Given the description of an element on the screen output the (x, y) to click on. 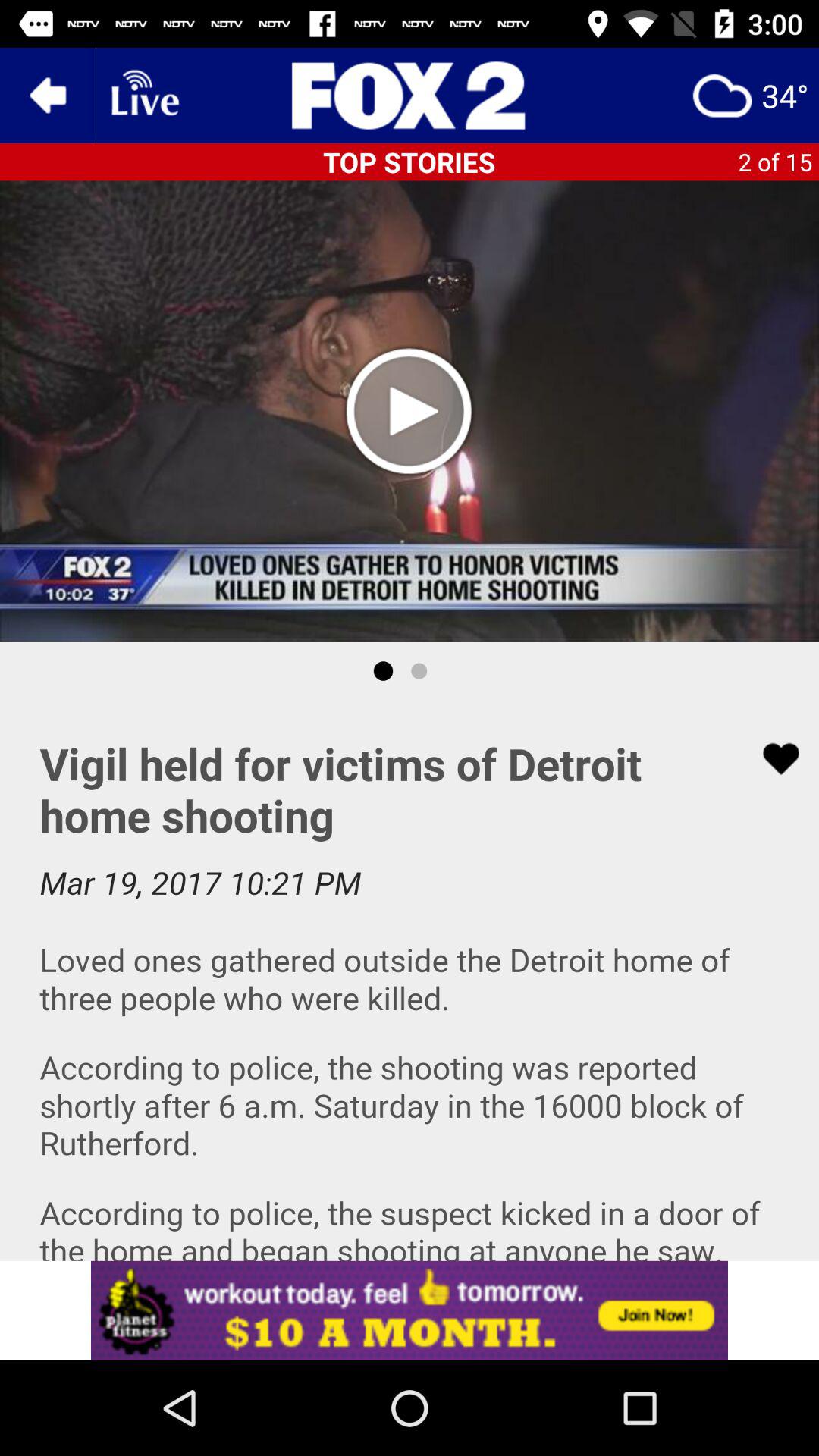
select the text above top stories (409, 94)
click on the play button which is below top stories (409, 410)
